Given the description of an element on the screen output the (x, y) to click on. 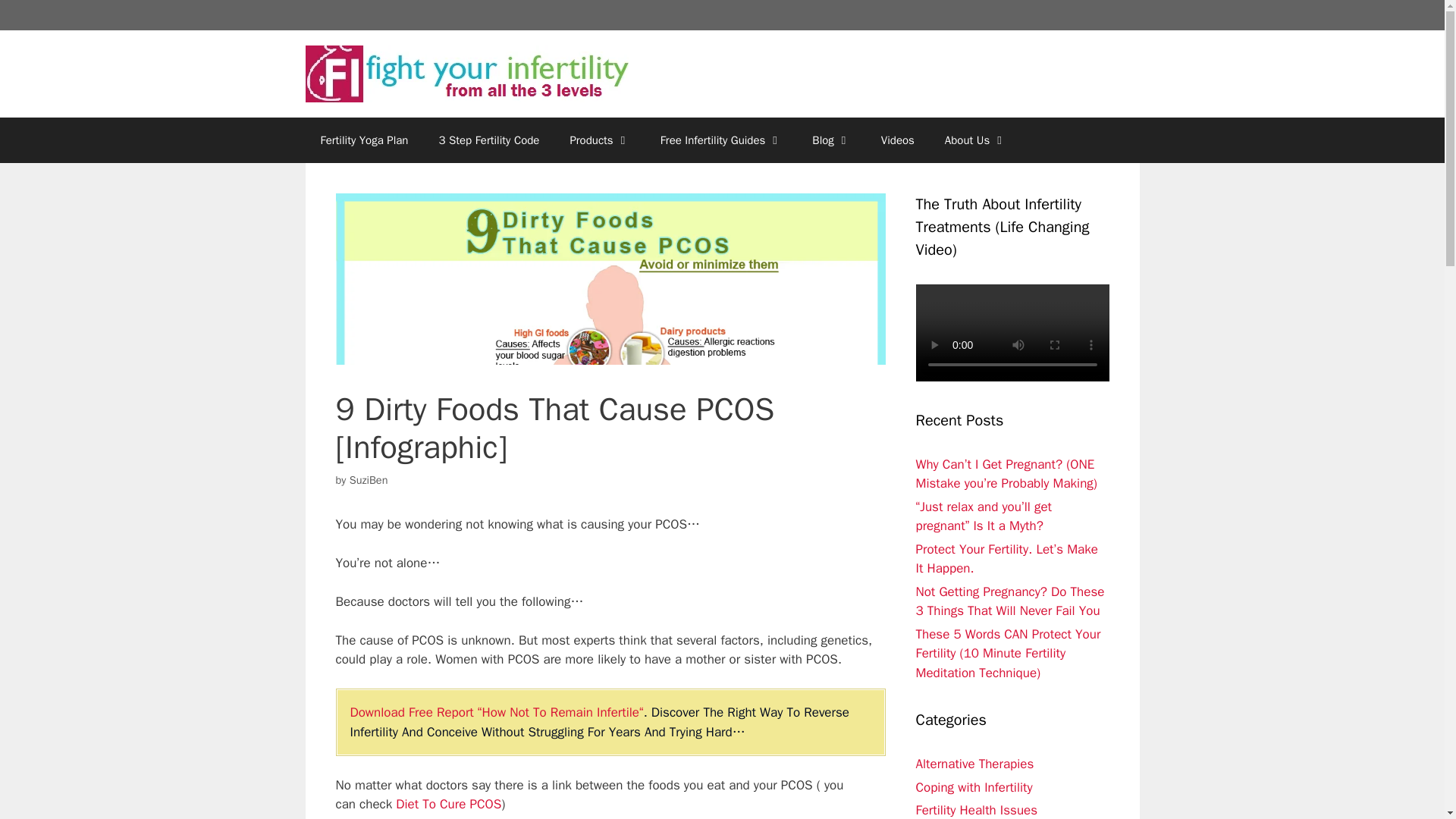
View all posts by SuziBen (368, 479)
Free Infertility Guides (721, 139)
Blog (830, 139)
Fertility Yoga Plan (363, 139)
3 Step Fertility Code (488, 139)
Products (599, 139)
